Given the description of an element on the screen output the (x, y) to click on. 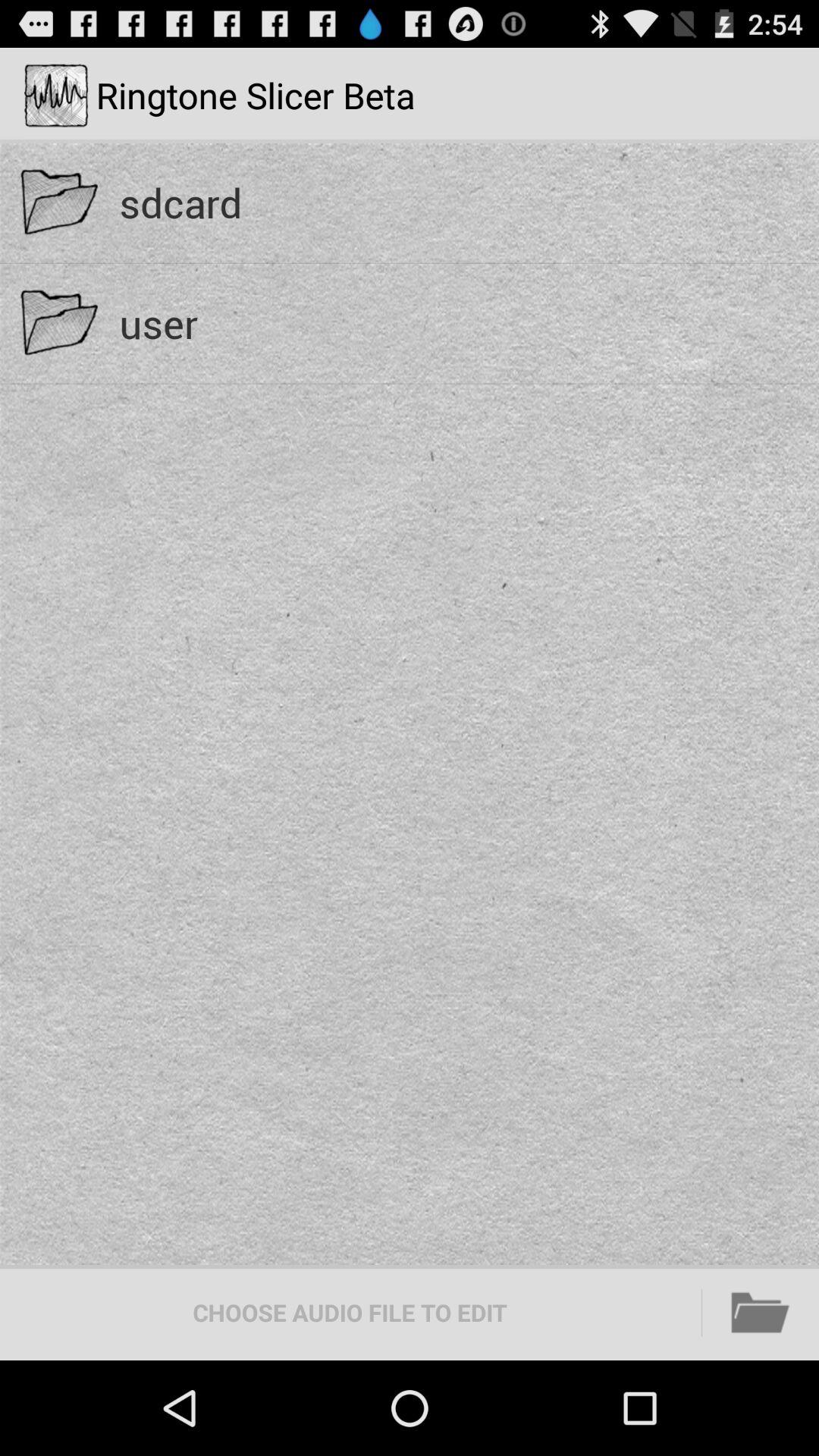
launch item below the user item (760, 1312)
